Given the description of an element on the screen output the (x, y) to click on. 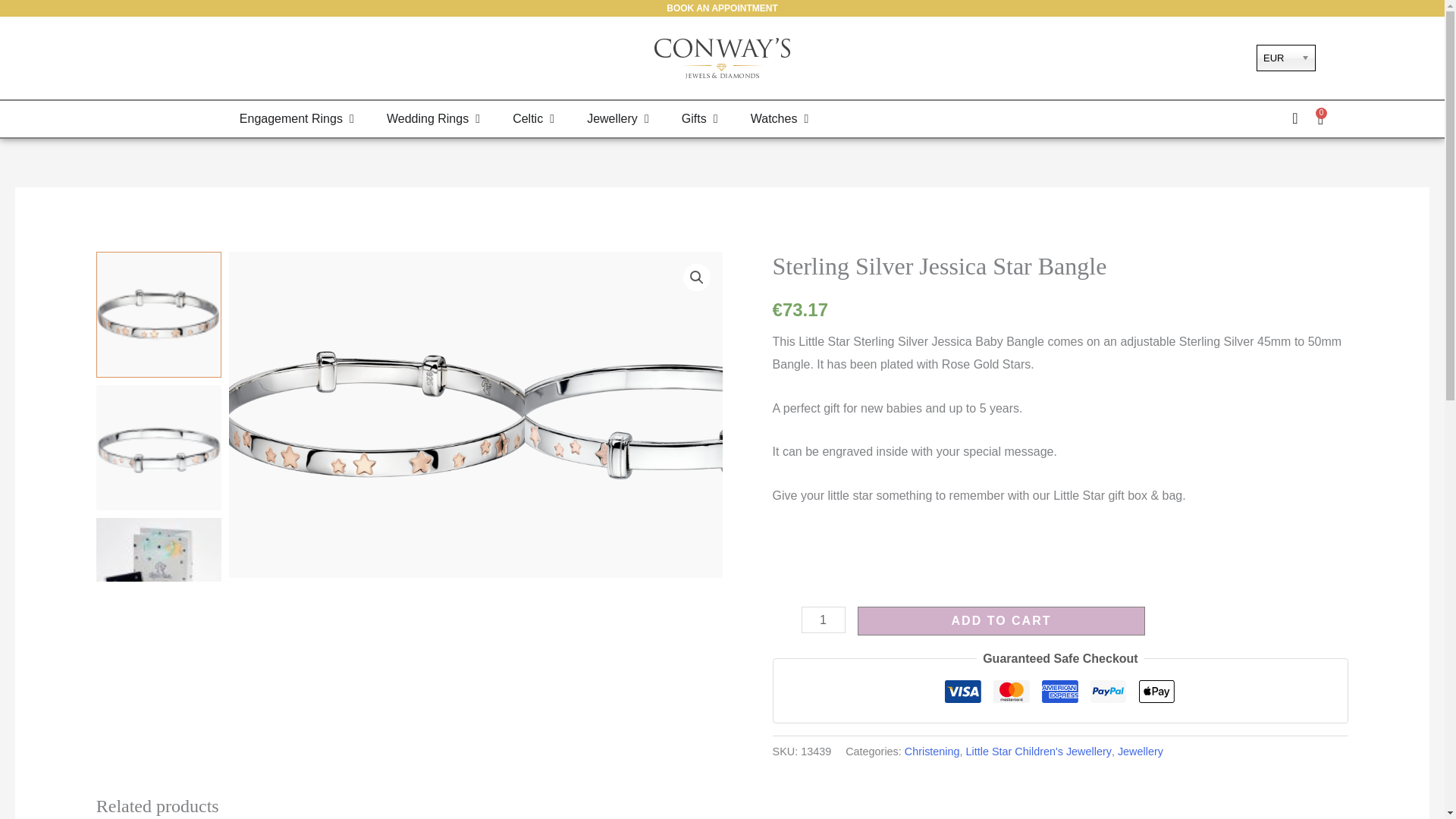
BOOK AN APPOINTMENT (721, 8)
EUR (1286, 58)
LSB0131-Font (672, 414)
LSB0131 (376, 414)
1 (823, 619)
